Given the description of an element on the screen output the (x, y) to click on. 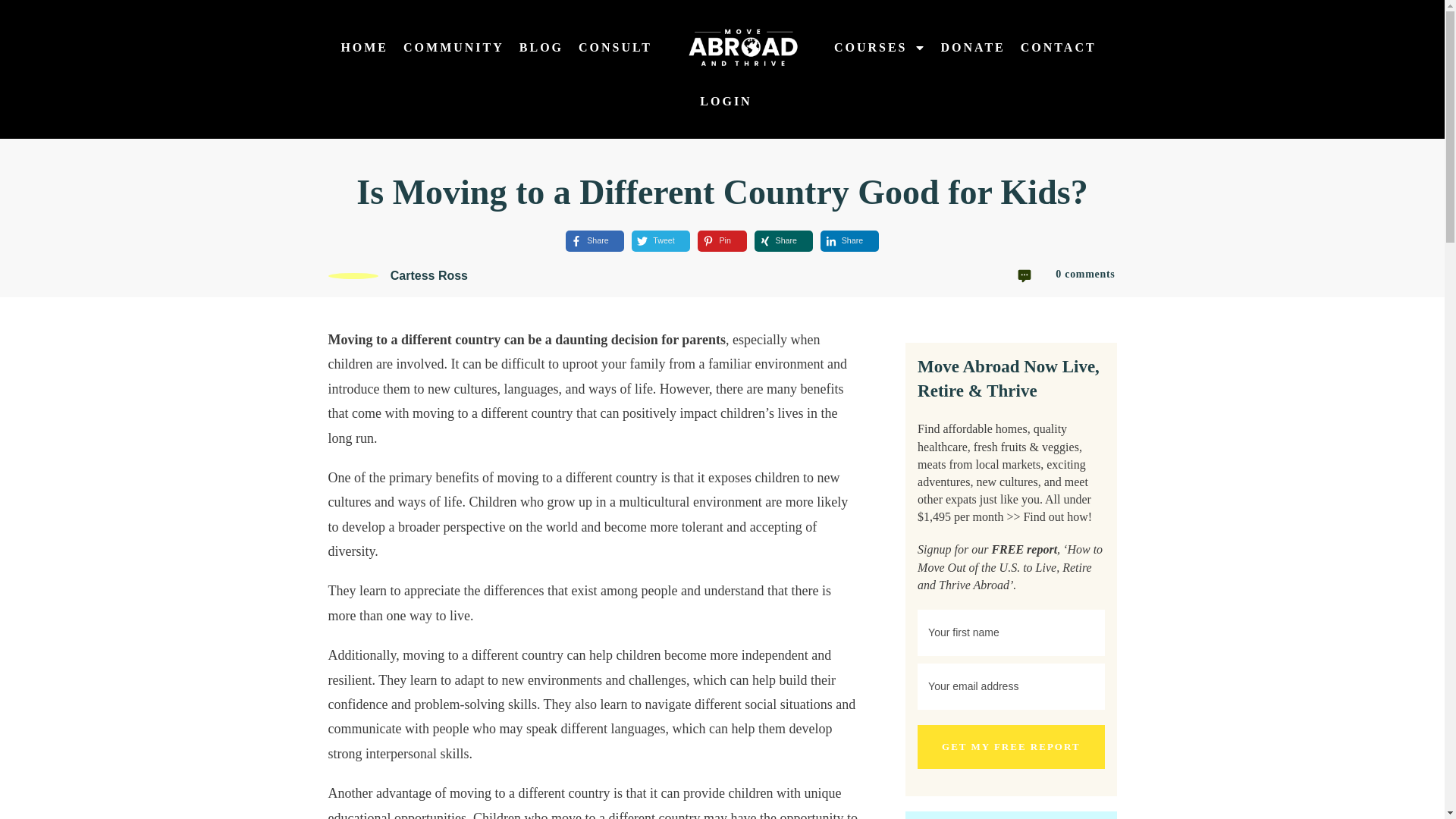
GET MY FREE REPORT (1010, 746)
Is Moving to a Different Country Good for Kids? (721, 191)
Share (842, 240)
CONSULT (615, 47)
LOGIN (725, 101)
BLOG (541, 47)
CONTACT (1058, 47)
Share (587, 240)
COMMUNITY (453, 47)
Is Moving to a Different Country Good for Kids? (721, 191)
